Given the description of an element on the screen output the (x, y) to click on. 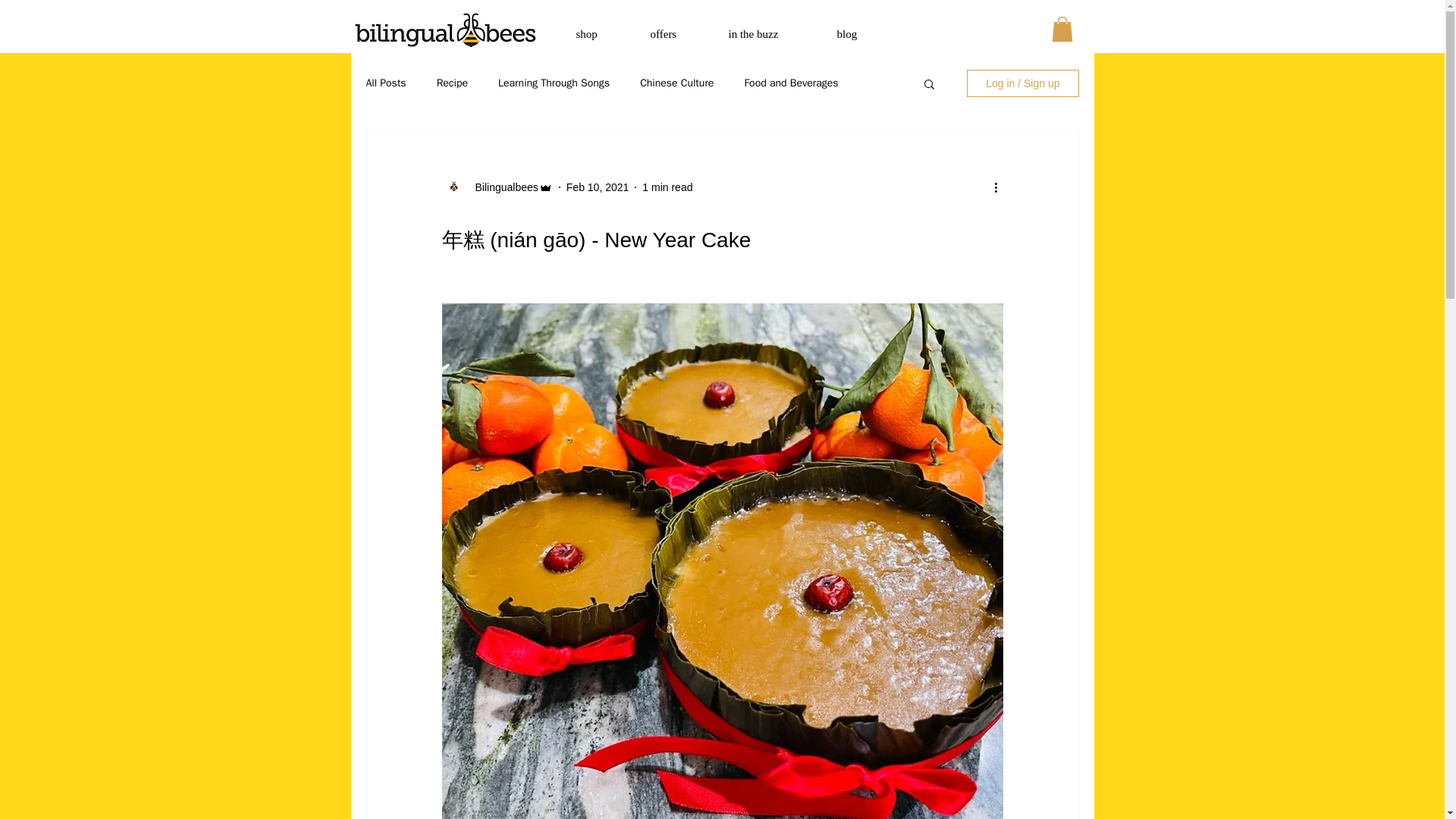
offers (677, 34)
blog (860, 34)
Food and Beverages (791, 83)
Bilingualbees (501, 187)
Feb 10, 2021 (597, 186)
Recipe (451, 83)
in the buzz (771, 34)
shop (601, 34)
Learning Through Songs (553, 83)
1 min read (667, 186)
All Posts (385, 83)
Chinese Culture (676, 83)
